Given the description of an element on the screen output the (x, y) to click on. 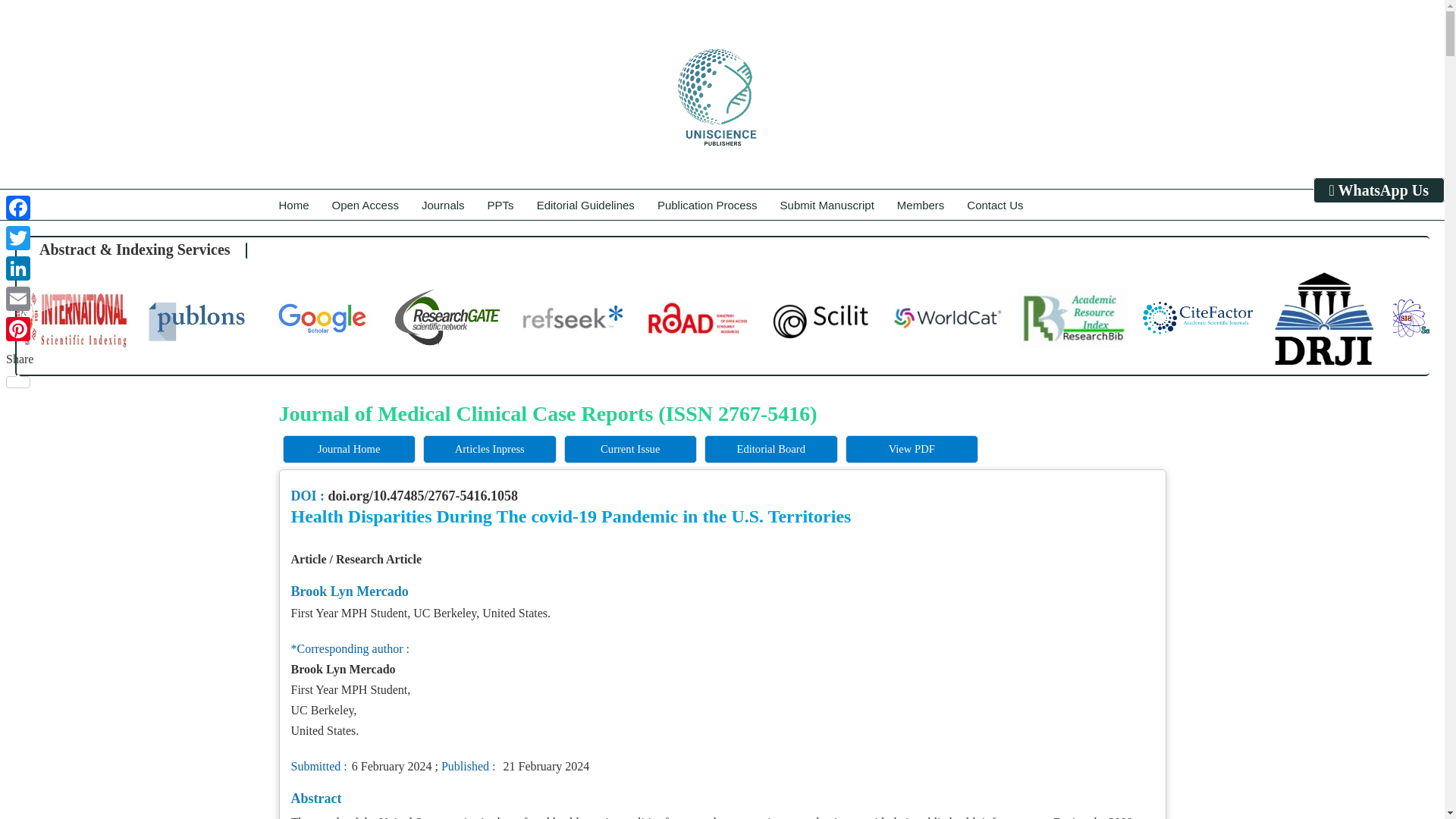
Members (920, 204)
researchgate (446, 317)
Open Access (364, 204)
PPTs (500, 204)
Publication Process (707, 204)
worldcat (947, 317)
drji (1322, 317)
road (697, 317)
publons (196, 317)
refseek (571, 317)
Journals (443, 204)
Contact Us (994, 204)
Home (293, 204)
google scholor (321, 317)
Submit Manuscript (827, 204)
